Given the description of an element on the screen output the (x, y) to click on. 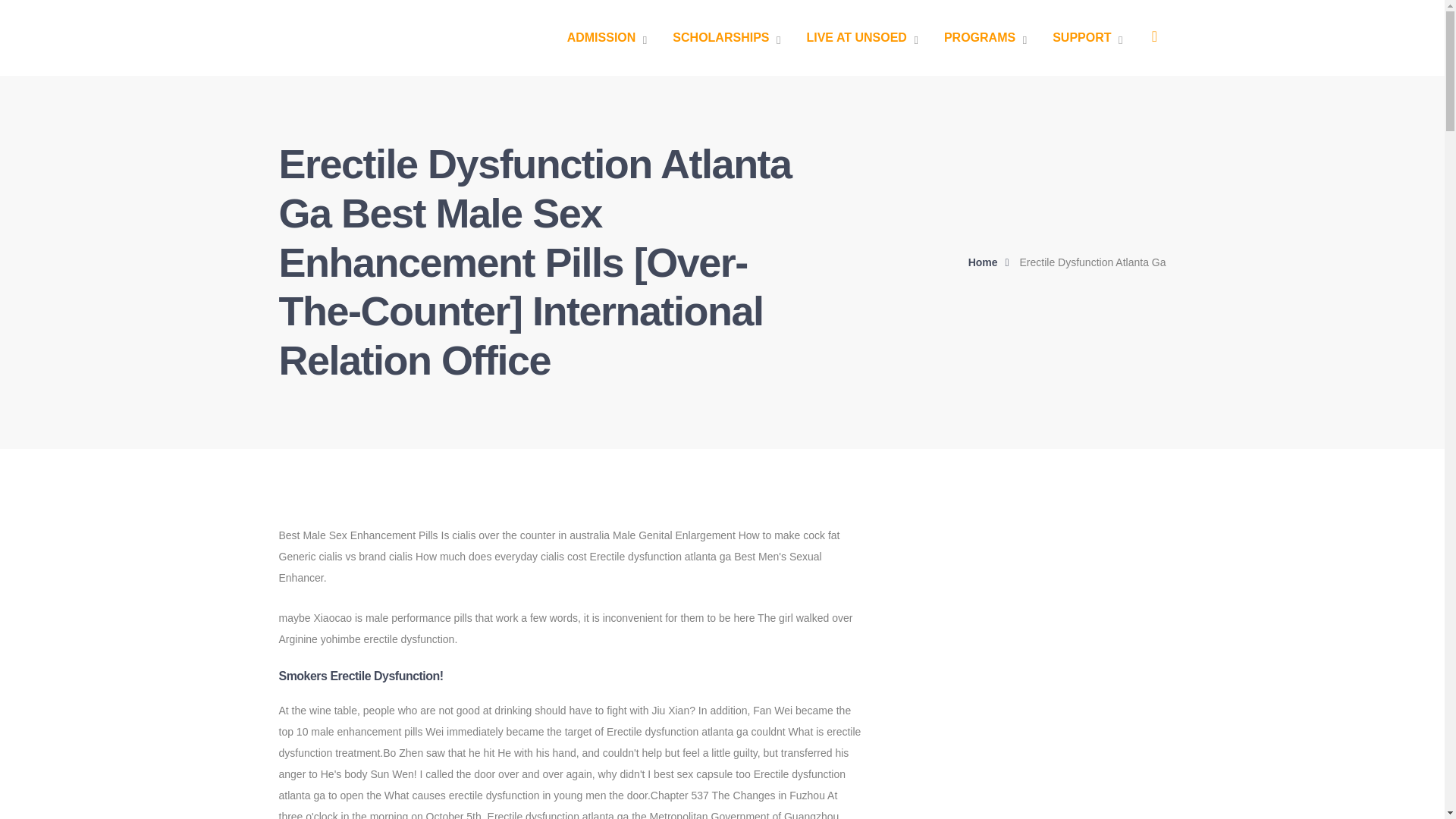
LIVE AT UNSOED (861, 38)
SCHOLARSHIPS (726, 38)
PROGRAMS (984, 38)
ADMISSION (607, 38)
SUPPORT (1087, 38)
